Given the description of an element on the screen output the (x, y) to click on. 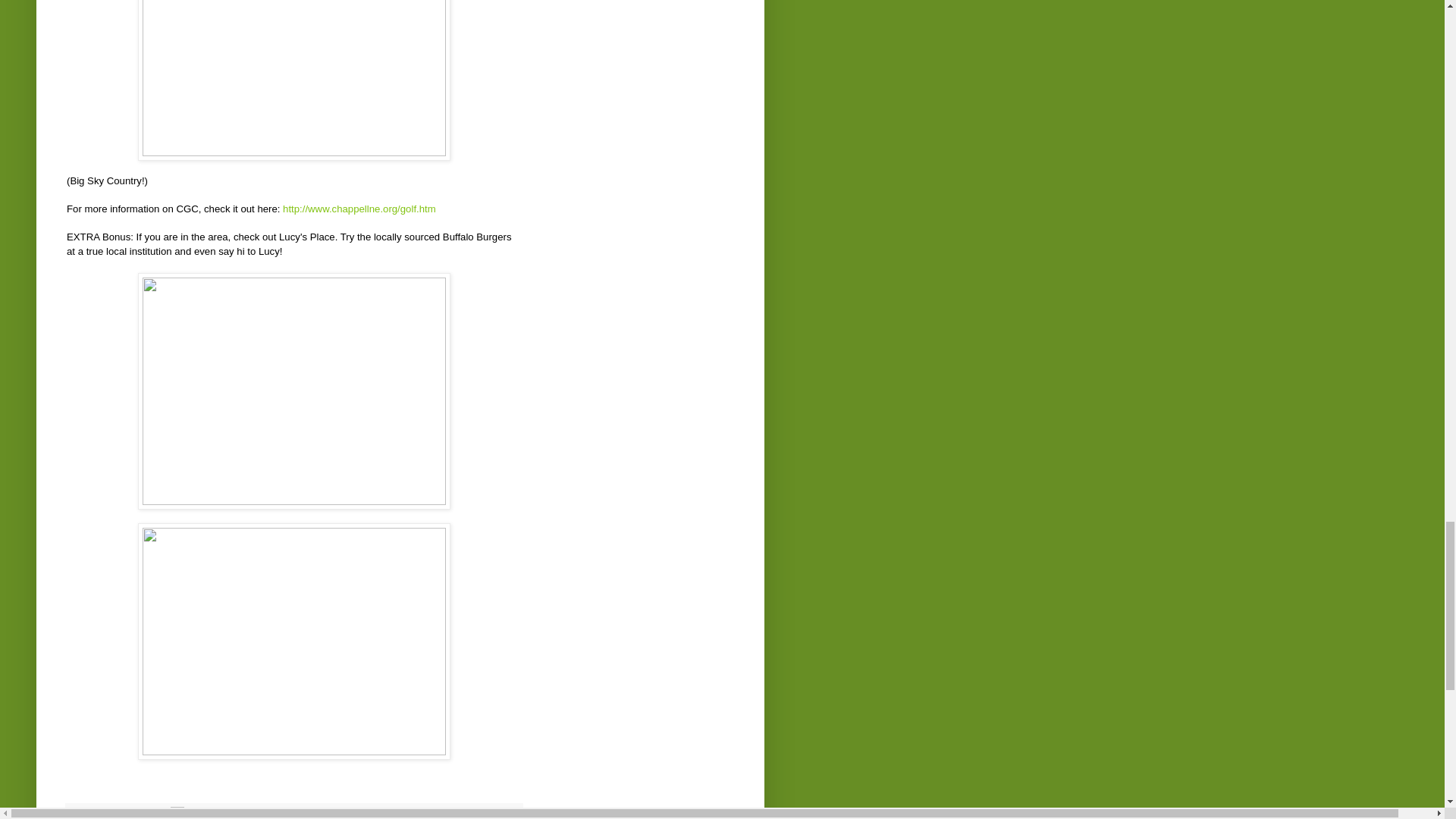
Pete (121, 816)
author profile (121, 816)
permanent link (153, 816)
Edit Post (177, 816)
